Given the description of an element on the screen output the (x, y) to click on. 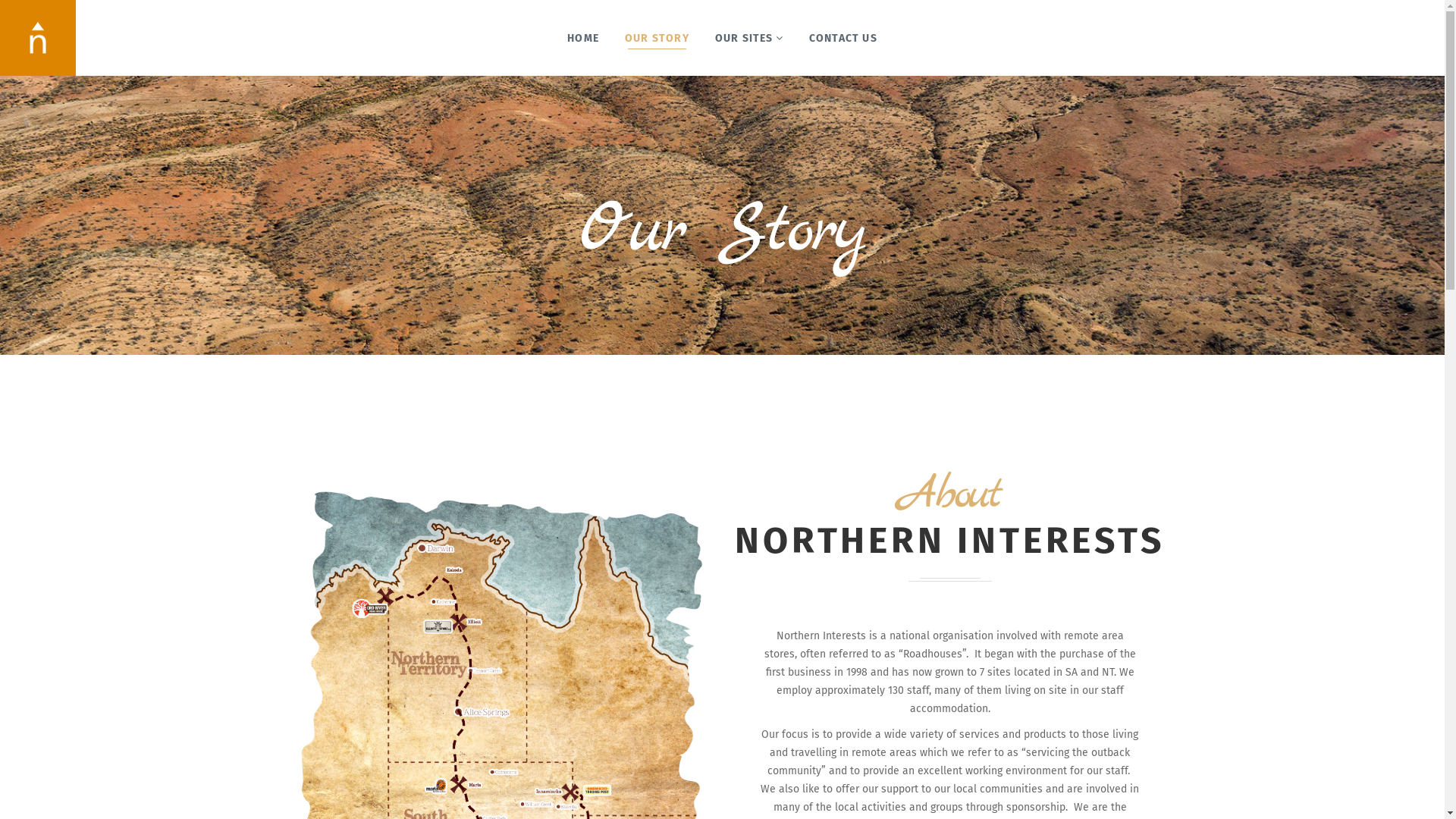
OUR STORY Element type: text (656, 37)
HOME Element type: text (582, 37)
OUR SITES Element type: text (748, 37)
Back to Northern Interests Element type: hover (37, 34)
CONTACT US Element type: text (842, 37)
